Given the description of an element on the screen output the (x, y) to click on. 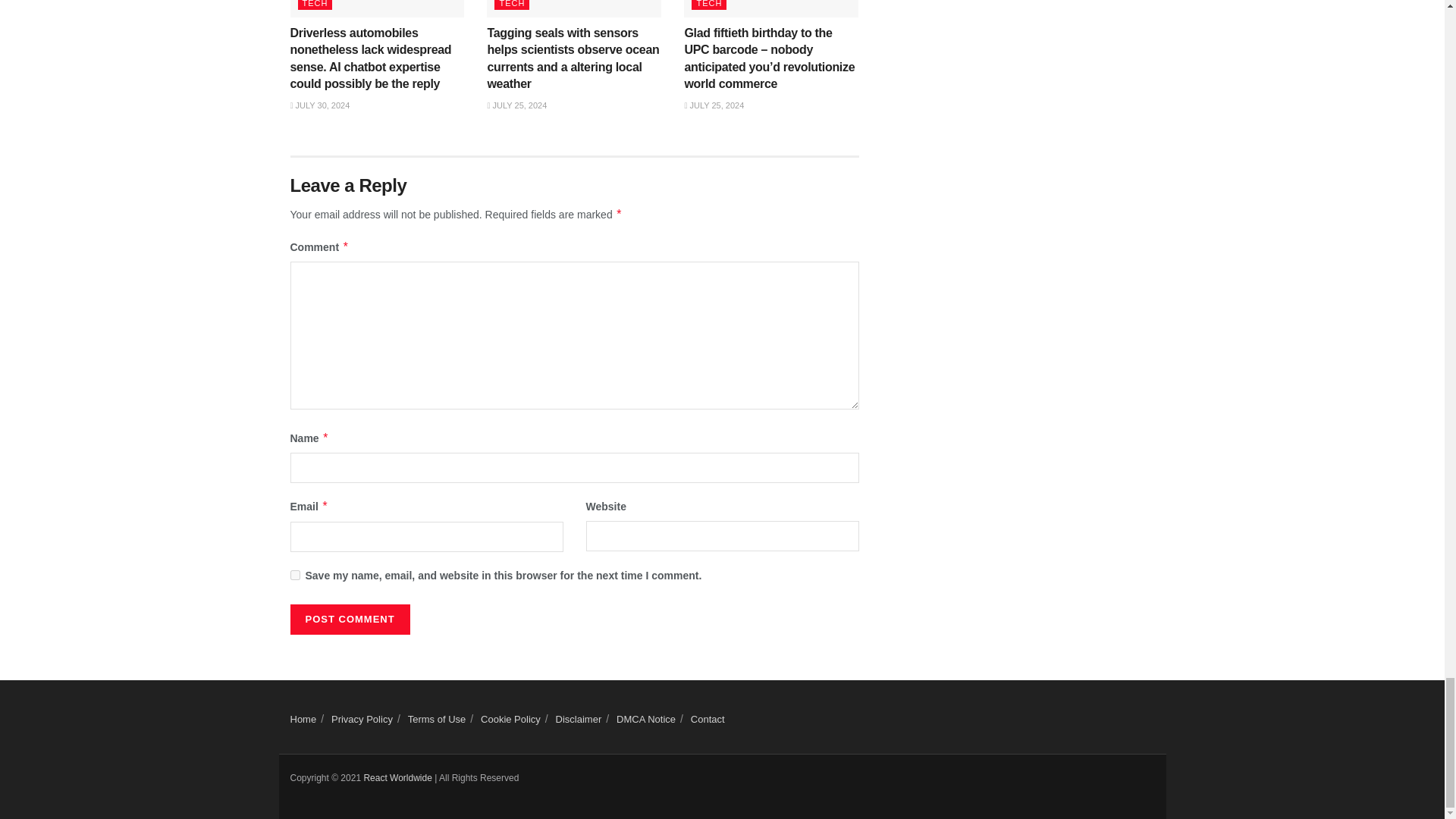
JULY 30, 2024 (319, 104)
TECH (512, 4)
yes (294, 574)
TECH (314, 4)
Post Comment (349, 619)
